Given the description of an element on the screen output the (x, y) to click on. 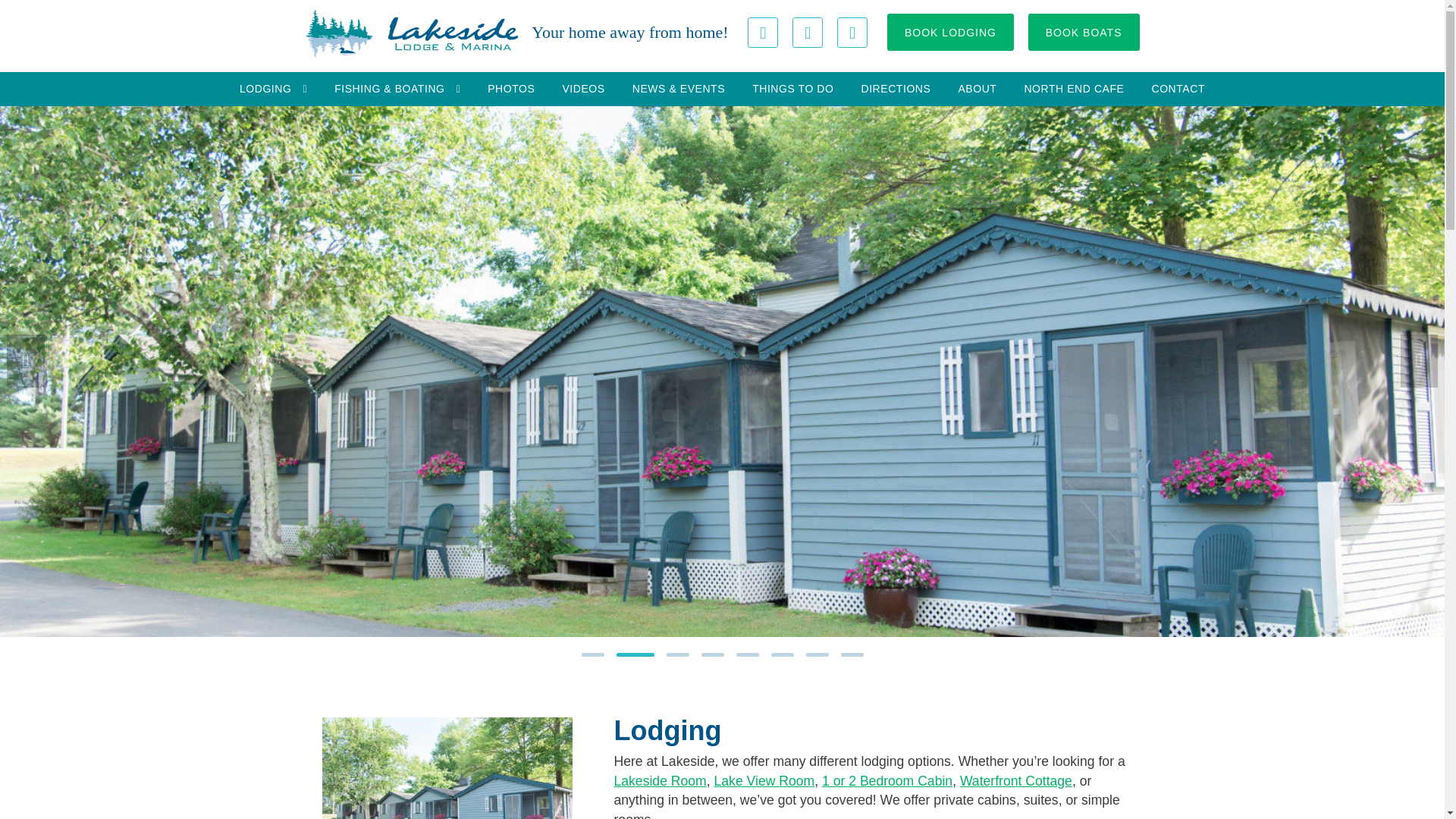
BOOK LODGING (949, 31)
NORTH END CAFE (1073, 88)
Lakeside Room (660, 780)
THINGS TO DO (792, 88)
DIRECTIONS (895, 88)
PHOTOS (511, 88)
1 or 2 Bedroom Cabin (887, 780)
CONTACT (1177, 88)
Waterfront Cottage (1015, 780)
ABOUT (976, 88)
